Given the description of an element on the screen output the (x, y) to click on. 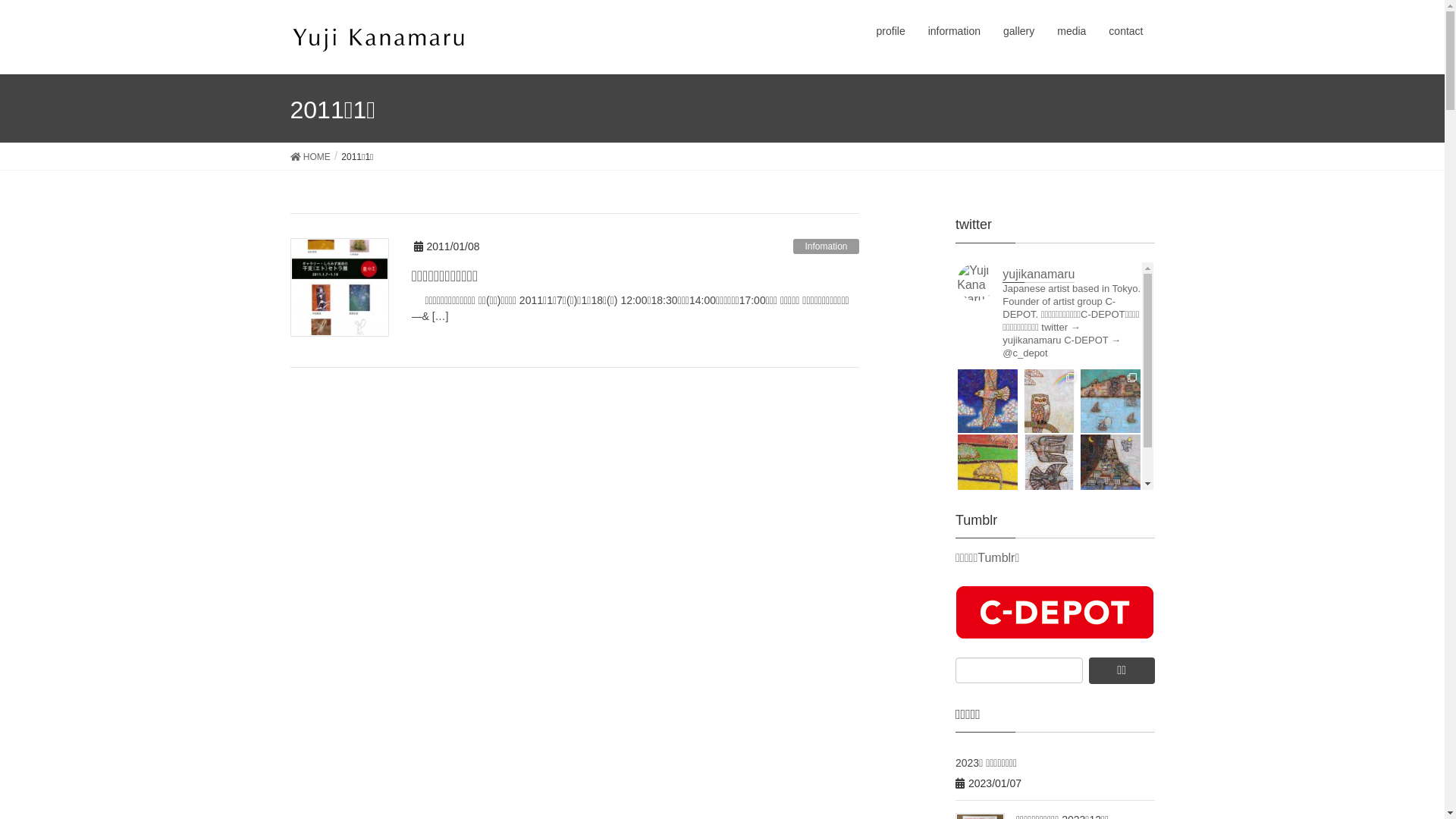
profile Element type: text (890, 31)
Infomation Element type: text (825, 246)
HOME Element type: text (309, 156)
gallery Element type: text (1018, 31)
contact Element type: text (1125, 31)
media Element type: text (1071, 31)
information Element type: text (953, 31)
